Given the description of an element on the screen output the (x, y) to click on. 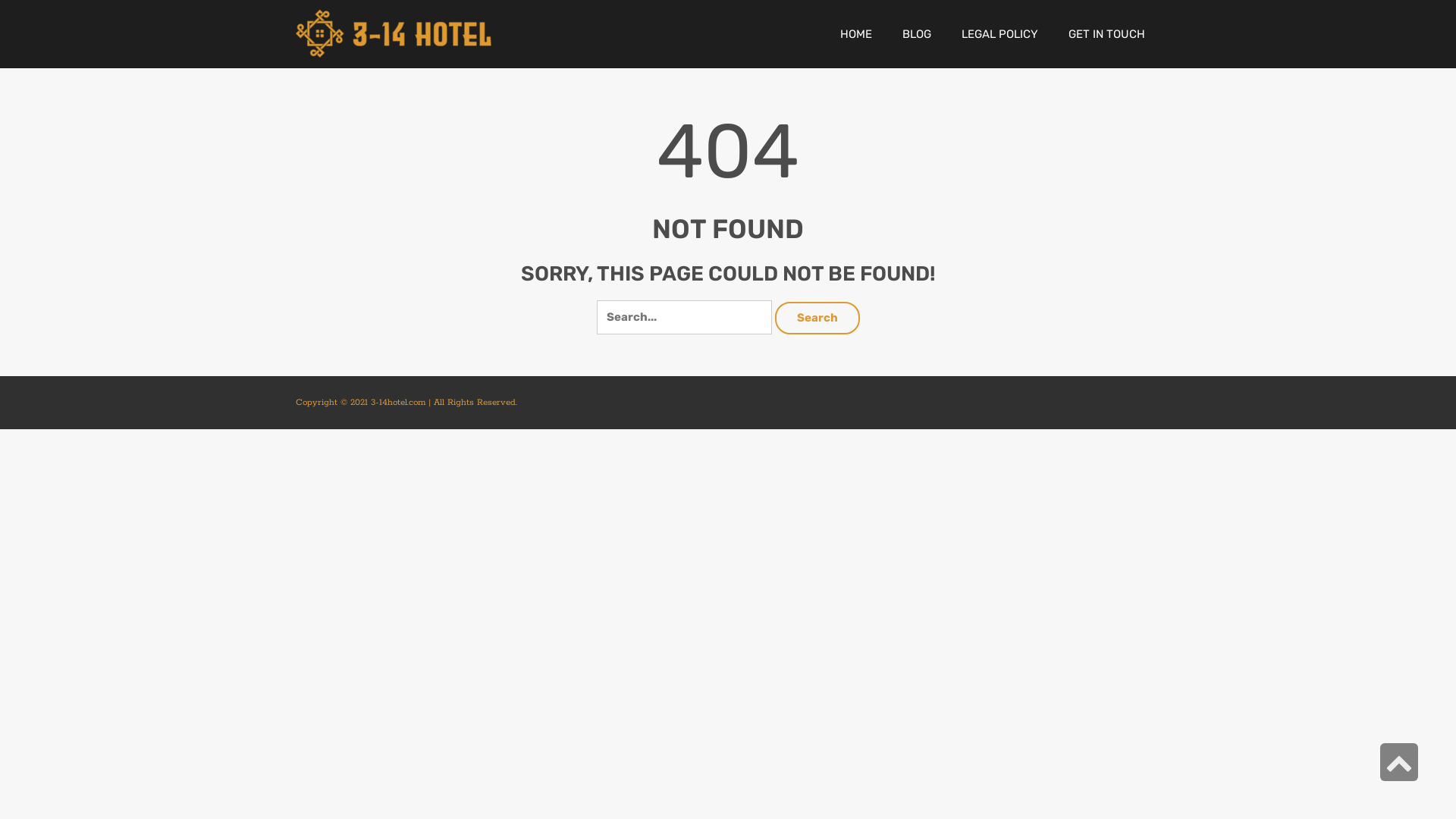
LEGAL POLICY Element type: text (999, 34)
BLOG Element type: text (916, 34)
HOME Element type: text (856, 34)
Search Element type: text (817, 317)
Scroll to top Element type: text (1399, 762)
Search Element type: hover (683, 317)
GET IN TOUCH Element type: text (1106, 34)
